Given the description of an element on the screen output the (x, y) to click on. 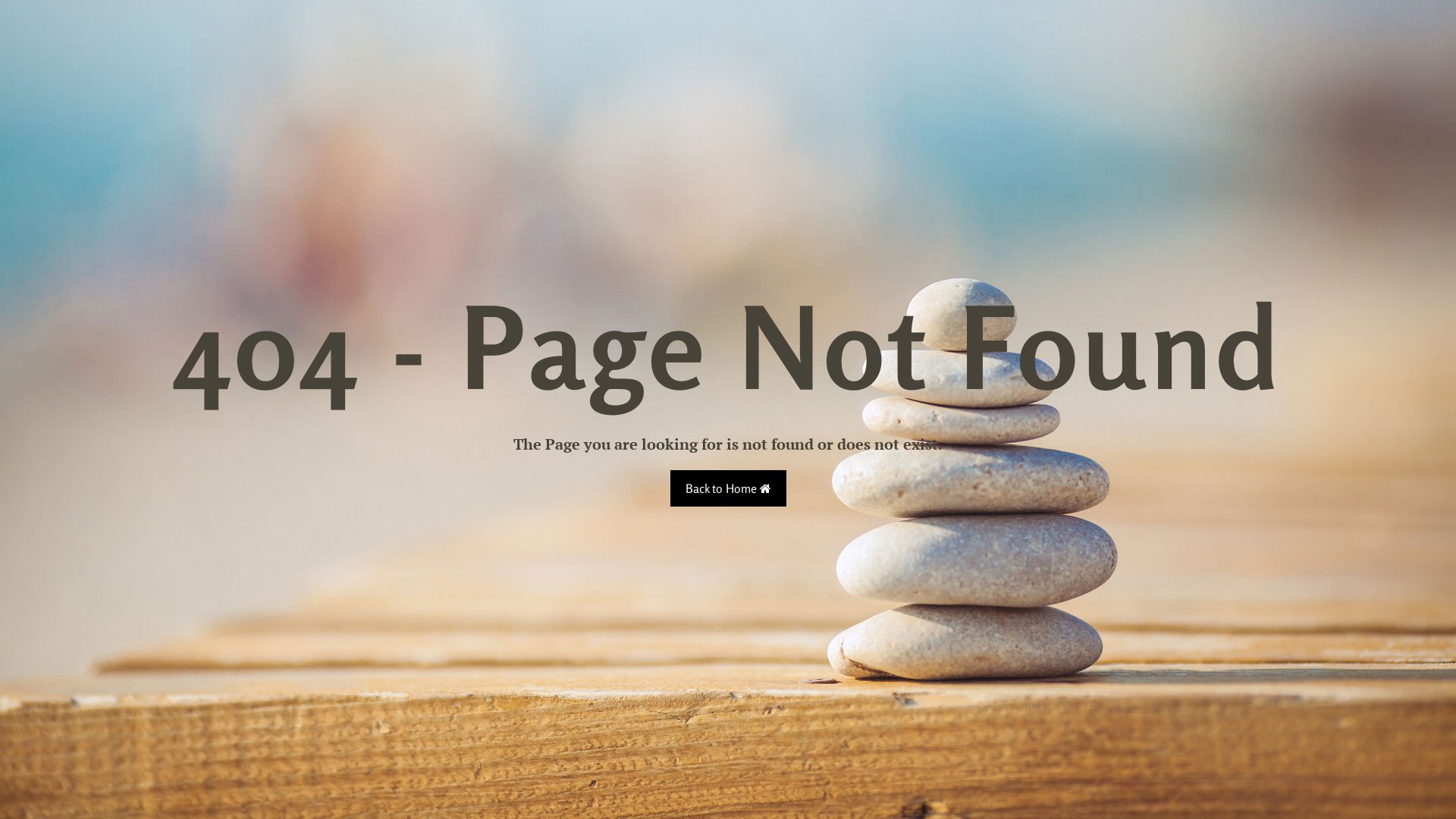
Back to Home Element type: text (728, 488)
